Given the description of an element on the screen output the (x, y) to click on. 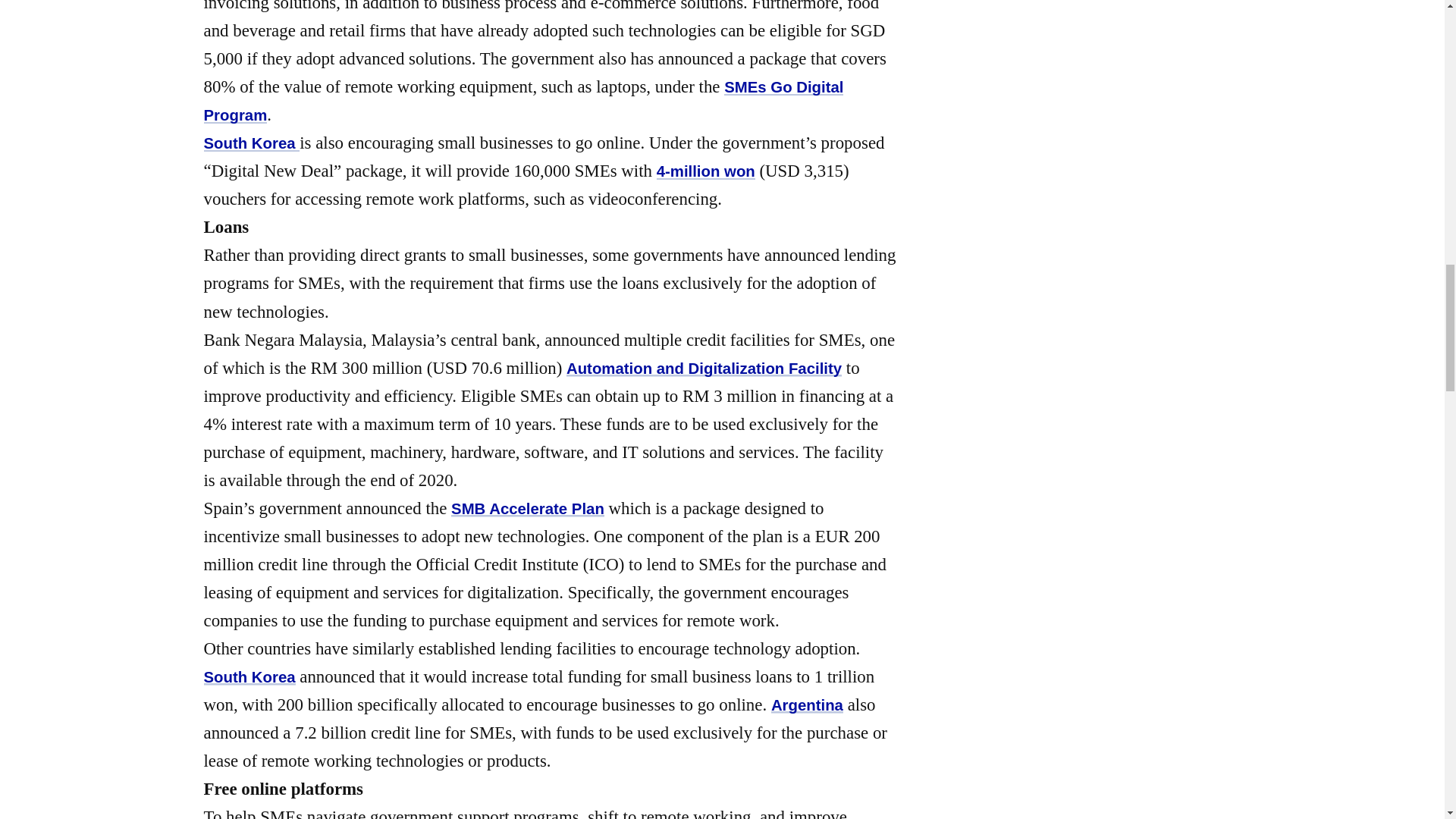
Automation and Digitalization Facility (703, 368)
SMEs Go Digital Program (523, 100)
South Korea (251, 143)
4-million won (705, 170)
South Korea (249, 677)
SMB Accelerate Plan (527, 508)
Argentina (807, 704)
